Given the description of an element on the screen output the (x, y) to click on. 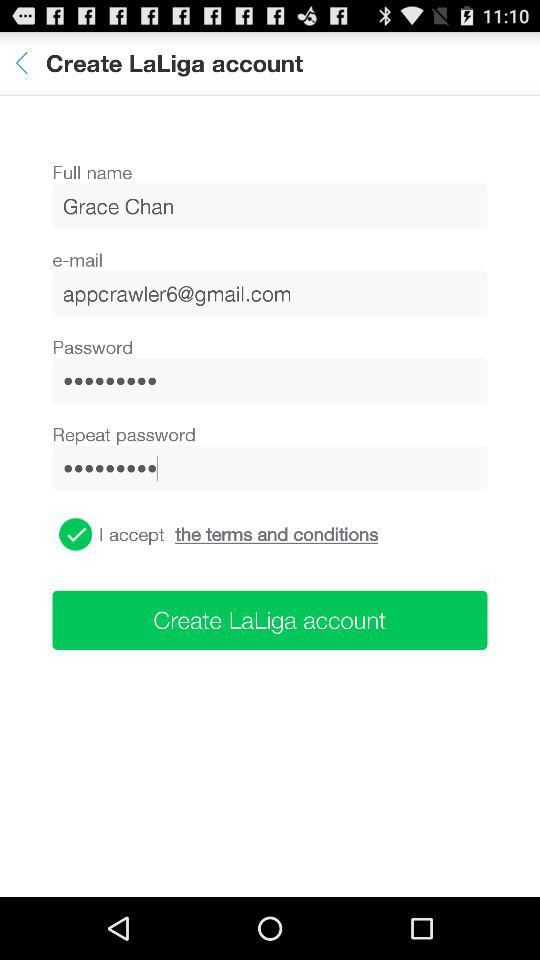
tap the item below the crowd3116 (75, 533)
